Given the description of an element on the screen output the (x, y) to click on. 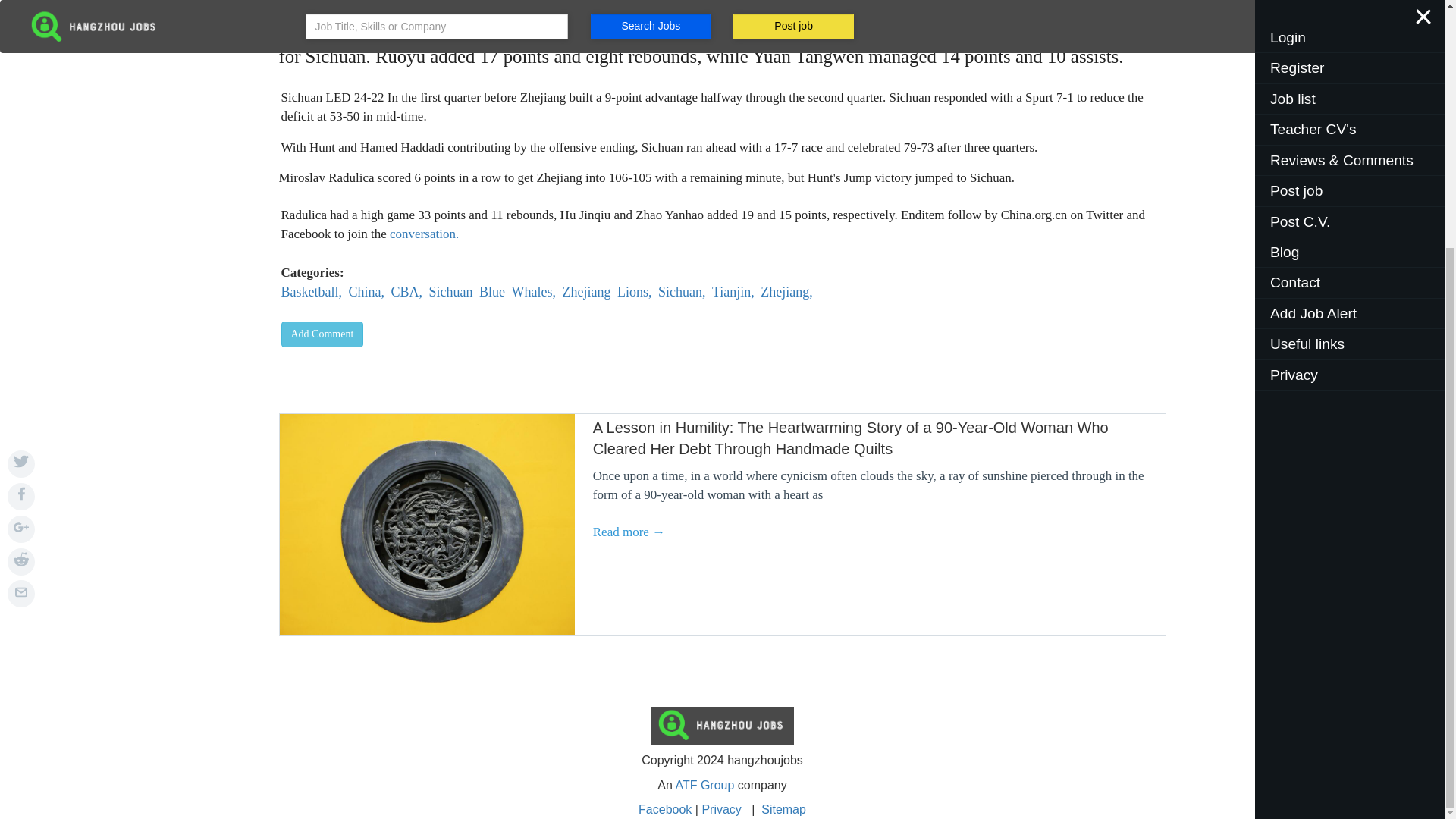
China, (365, 291)
Add Comment (369, 253)
Sichuan (321, 334)
Lions, (451, 291)
Whales, (634, 291)
Zhejiang, (532, 291)
Zhejiang (786, 291)
